Given the description of an element on the screen output the (x, y) to click on. 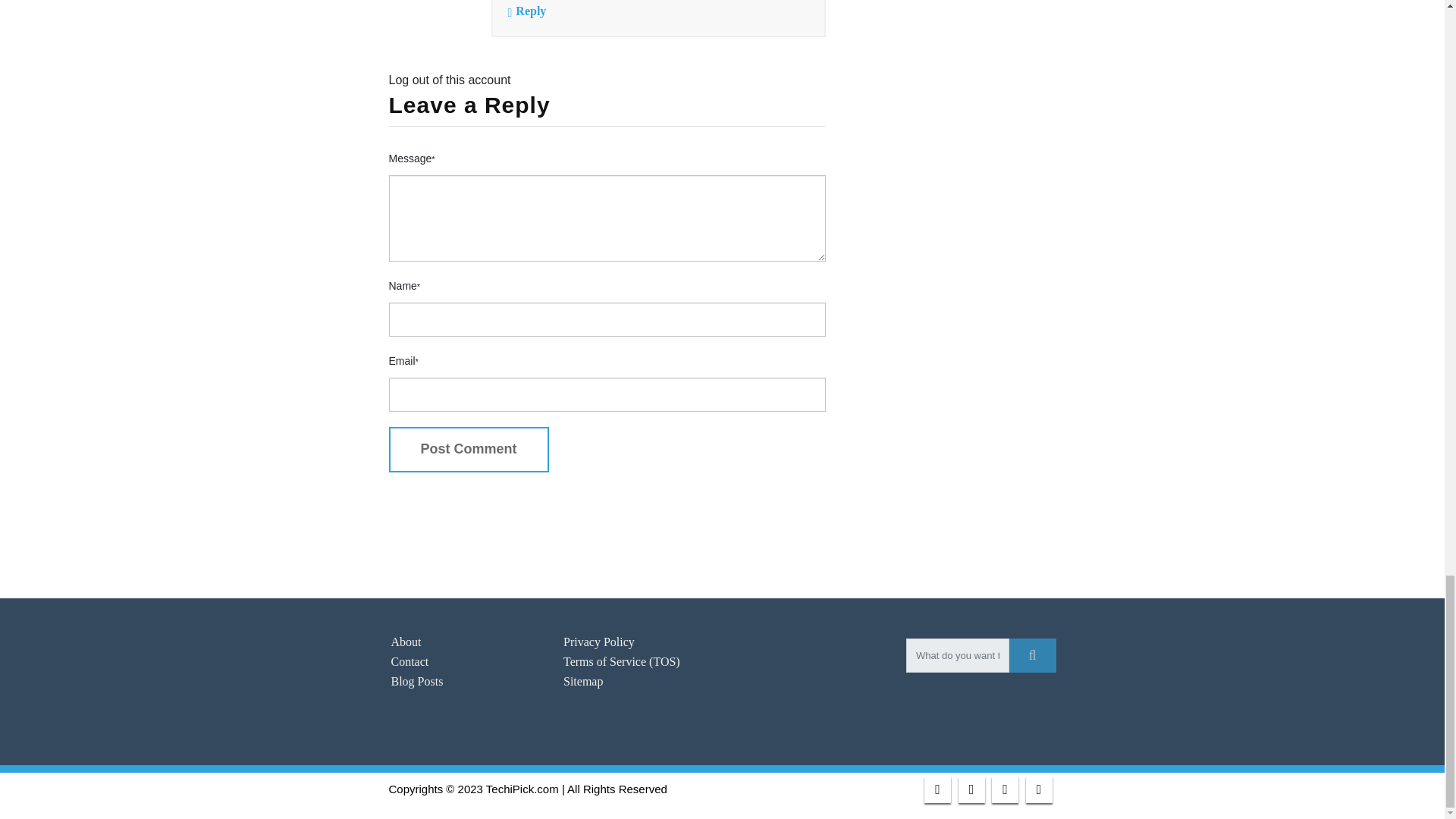
Post Comment (468, 449)
Facebook (937, 789)
Youtube (1038, 789)
Twitter (971, 789)
Linkedin (1004, 789)
Reply (530, 10)
